Given the description of an element on the screen output the (x, y) to click on. 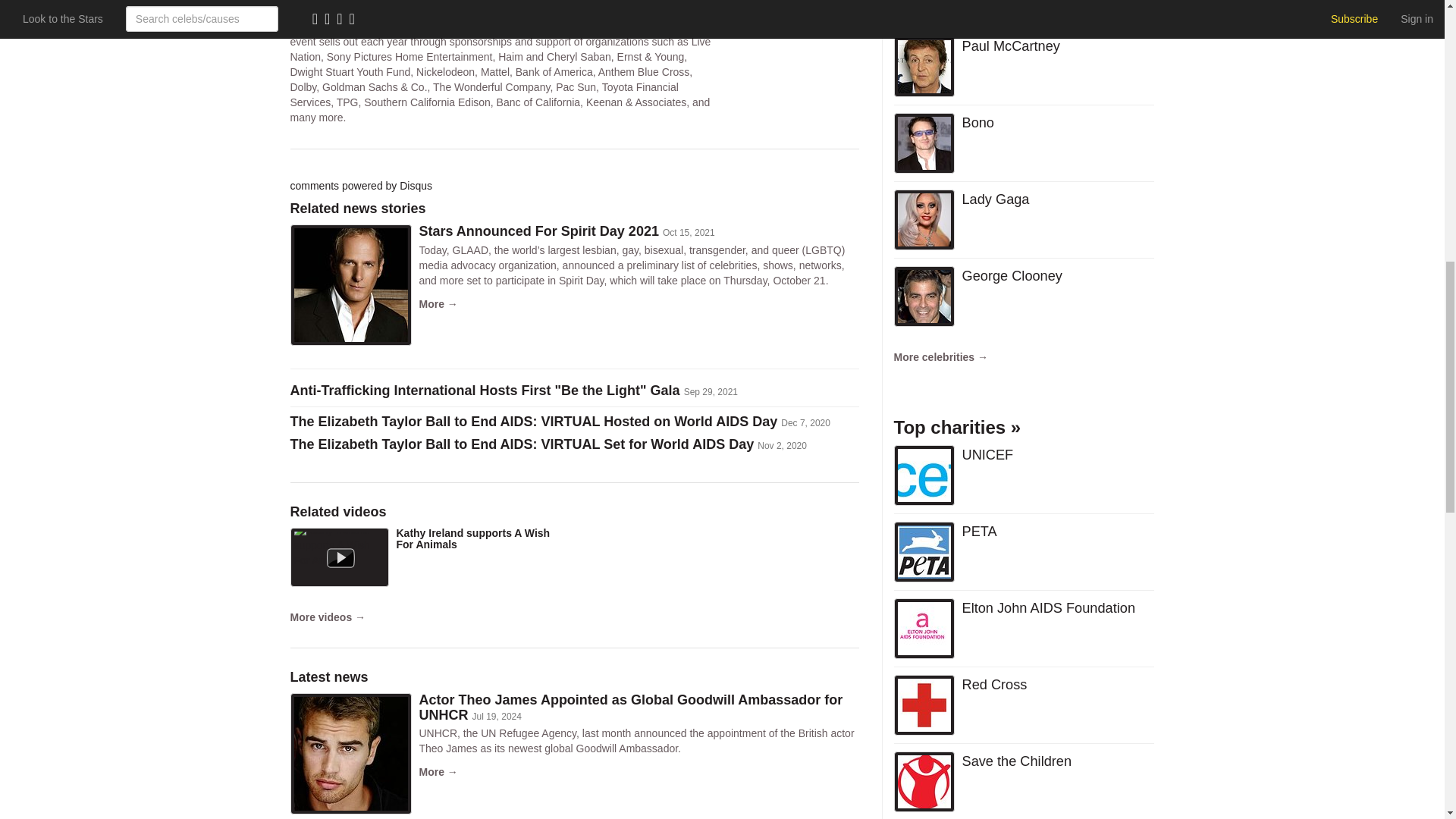
Play (338, 557)
Latest news (328, 676)
comments powered by Disqus (360, 185)
Stars Announced For Spirit Day 2021 (538, 231)
Kathy Ireland supports A Wish For Animals (473, 538)
